Given the description of an element on the screen output the (x, y) to click on. 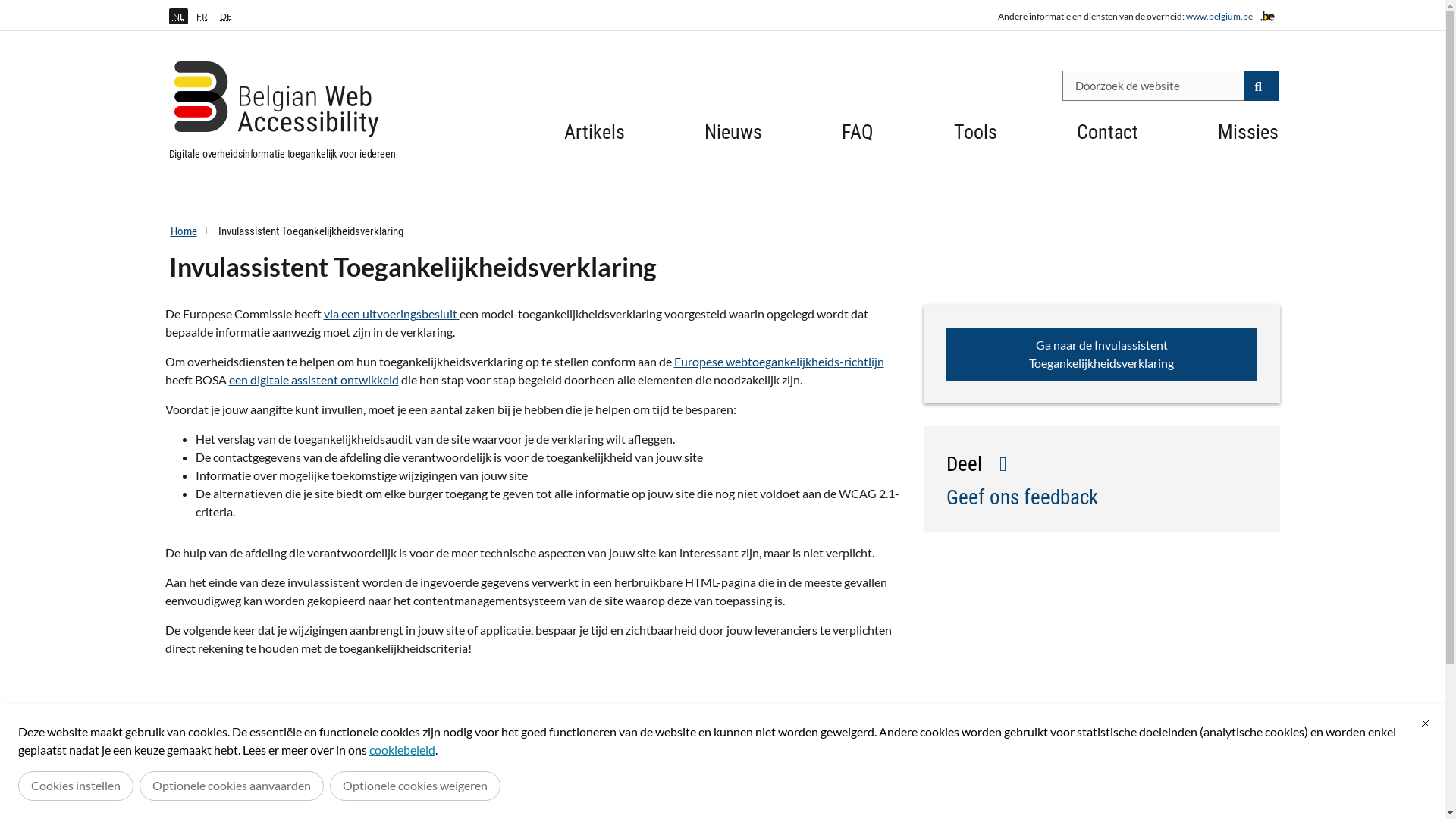
Tools Element type: text (975, 137)
een digitale assistent ontwikkeld Element type: text (313, 379)
Europese webtoegankelijkheids-richtlijn Element type: text (778, 361)
Sluiten Element type: hover (1425, 723)
NL Element type: text (177, 16)
FAQ Element type: text (857, 137)
Optionele cookies aanvaarden Element type: text (231, 785)
Geef ons feedback Element type: text (1022, 495)
via een uitvoeringsbesluit Element type: text (390, 313)
cookiebeleid Element type: text (402, 749)
FR Element type: text (201, 16)
www.belgium.be Element type: text (1219, 15)
Terug naar de homepagina Element type: hover (286, 103)
DE Element type: text (225, 16)
Contact Element type: text (1107, 137)
Deel Element type: text (979, 460)
Missies Element type: text (1247, 137)
Overslaan en naar de inhoud gaan Element type: text (7, 4)
Ga naar de Invulassistent Toegankelijkheidsverklaring Element type: text (1101, 353)
Cookies instellen Element type: text (75, 785)
Artikels Element type: text (594, 137)
Home Element type: text (182, 231)
Nieuws Element type: text (733, 137)
Optionele cookies weigeren Element type: text (414, 785)
Search Element type: text (1260, 85)
